Given the description of an element on the screen output the (x, y) to click on. 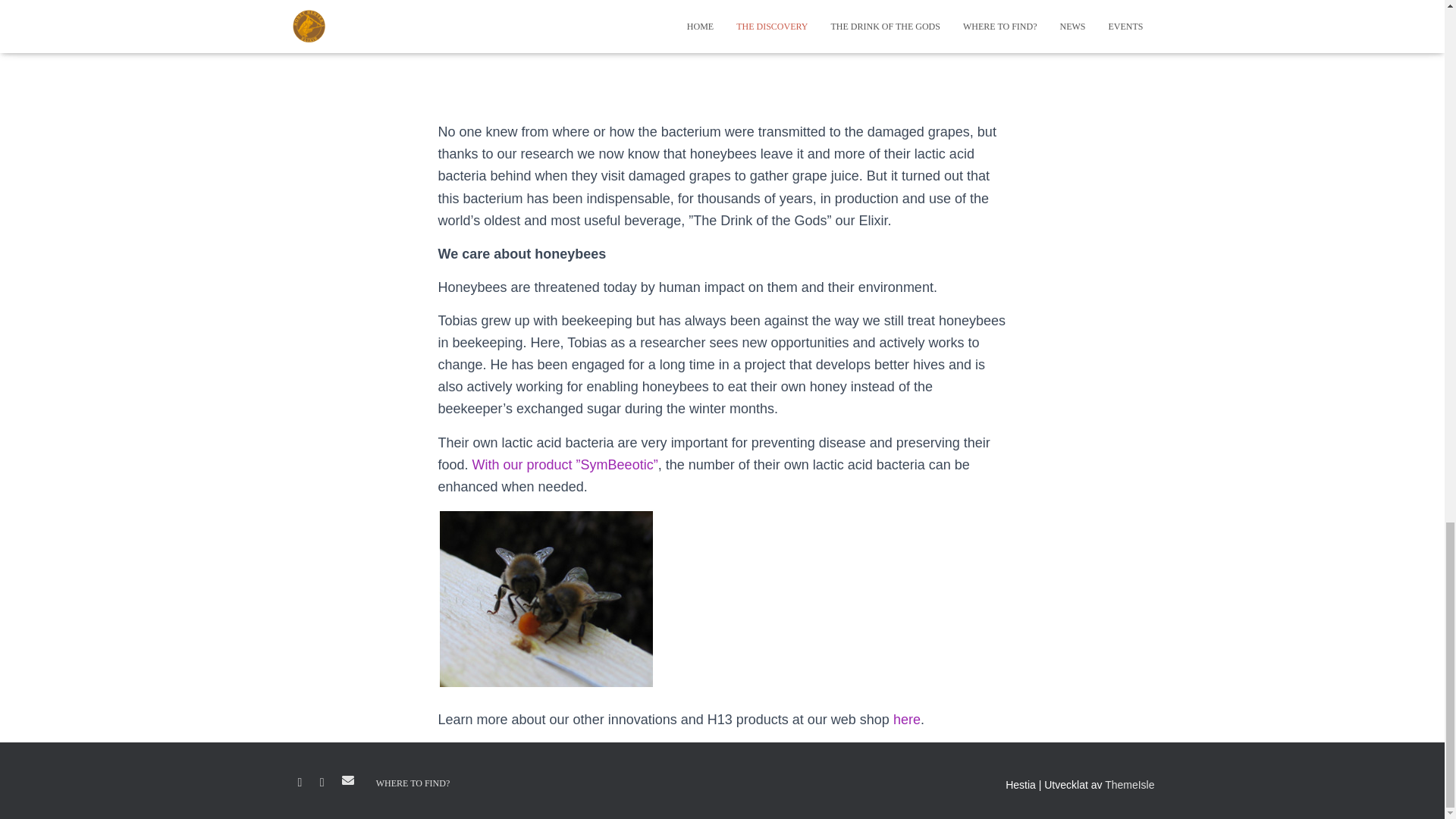
ThemeIsle (1129, 784)
FACEBOOK (298, 782)
INSTAGRAM (322, 782)
WHERE TO FIND? (413, 783)
E-POST (347, 779)
here (906, 719)
